Given the description of an element on the screen output the (x, y) to click on. 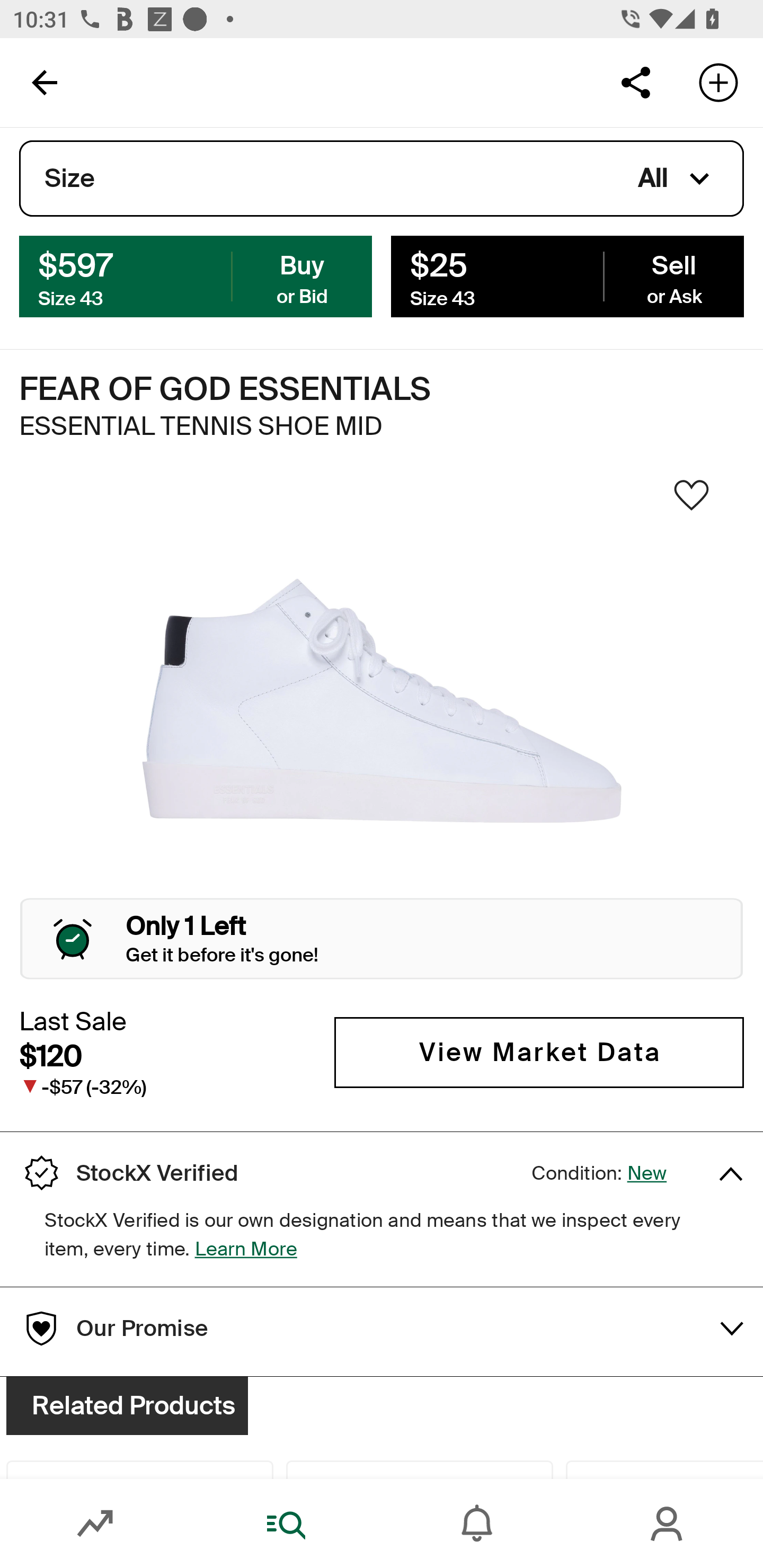
Share (635, 81)
Size All (381, 178)
$597 Buy Size 43 or Bid (195, 275)
$25 Sell Size 43 or Ask (566, 275)
Sneaker Image (381, 699)
View Market Data (538, 1052)
Market (95, 1523)
Inbox (476, 1523)
Account (667, 1523)
